Given the description of an element on the screen output the (x, y) to click on. 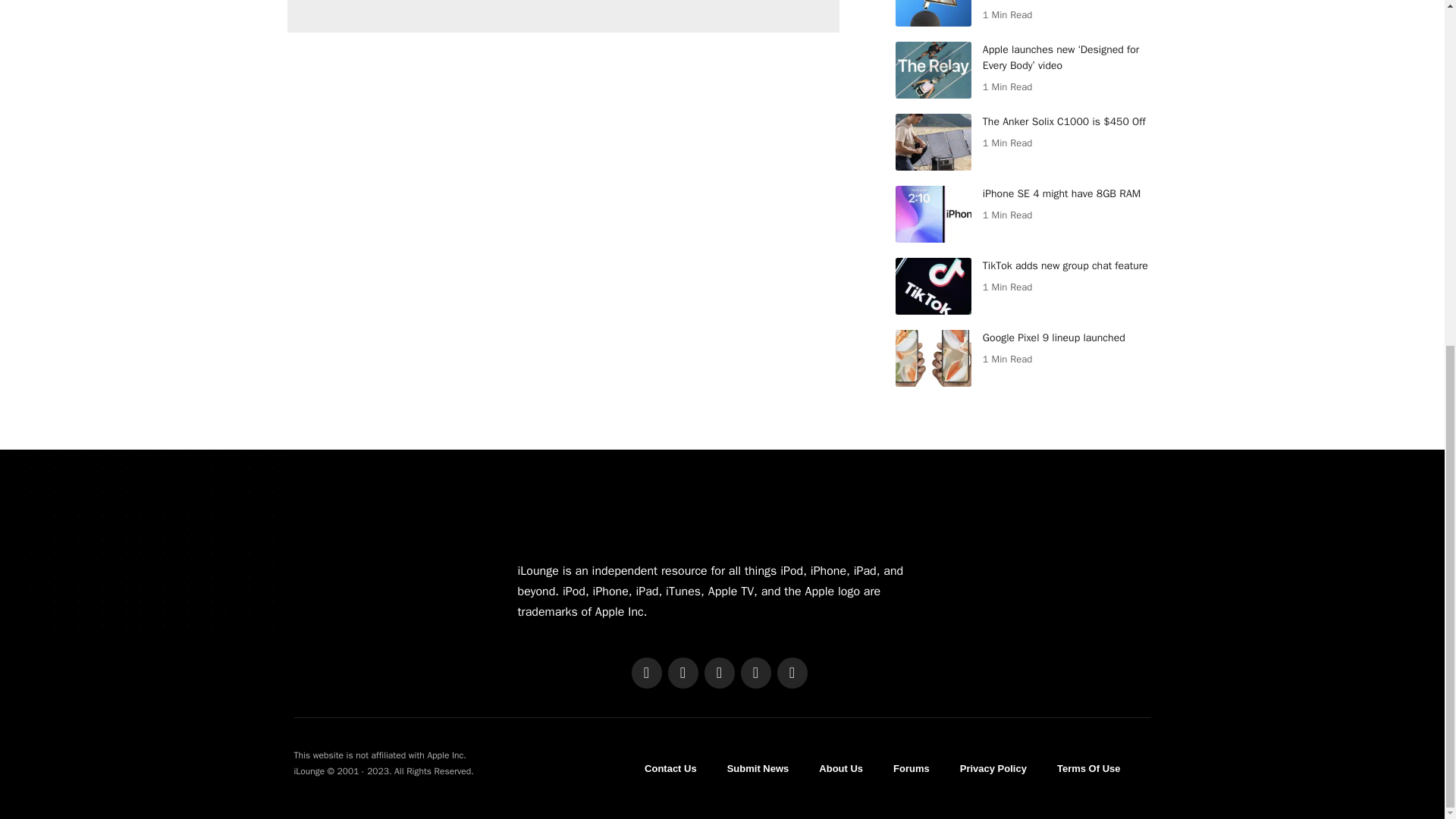
Advertisement (563, 16)
Facebook (645, 672)
Google Pixel 9 lineup launched (933, 358)
iPhone SE 4 might have 8GB RAM (933, 213)
TikTok adds new group chat feature (933, 285)
Apple still On track for a tabletop device (933, 13)
